Given the description of an element on the screen output the (x, y) to click on. 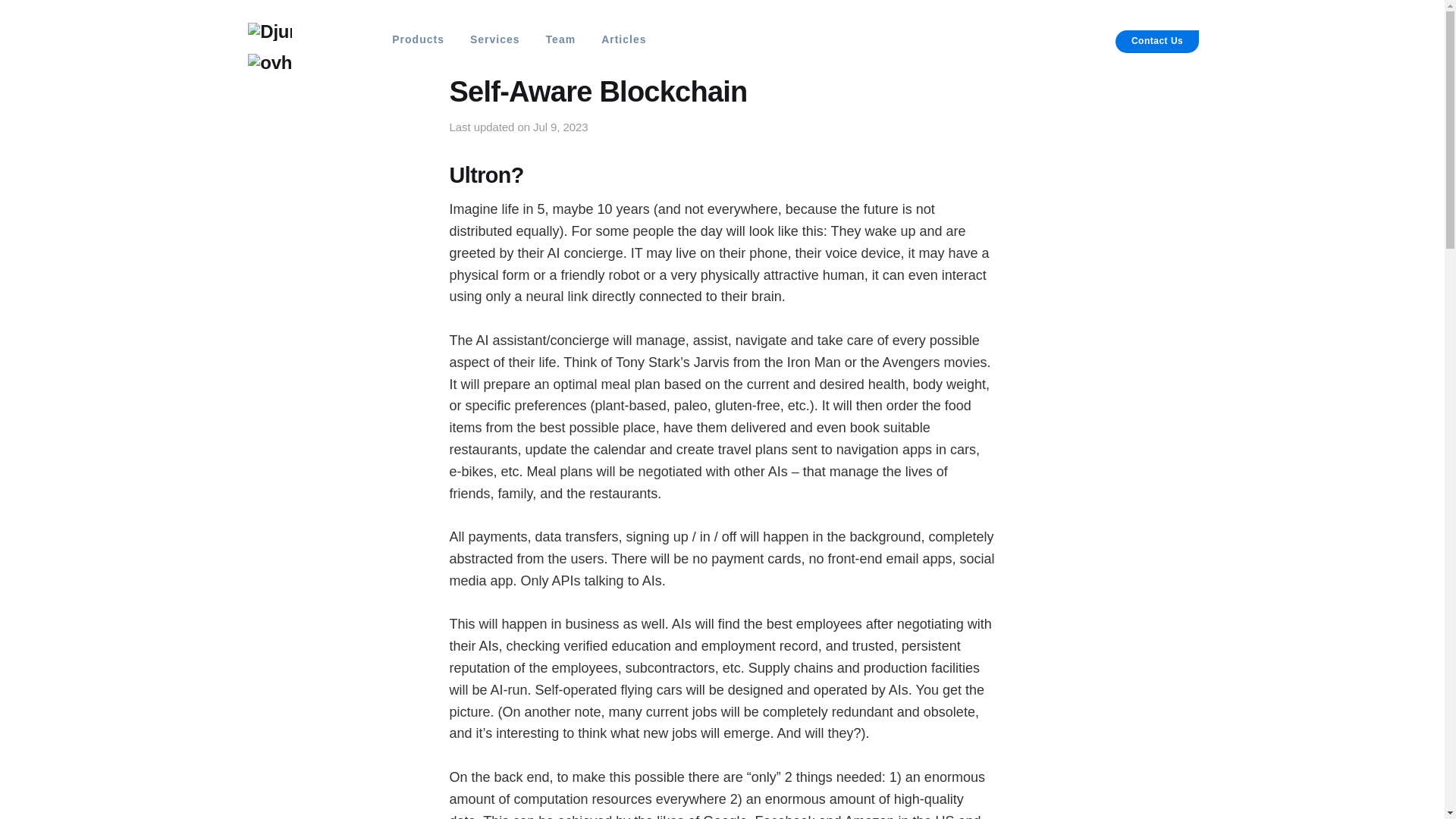
Team (555, 39)
Products (412, 39)
Articles (618, 39)
Contact Us (1156, 41)
Services (489, 39)
